Given the description of an element on the screen output the (x, y) to click on. 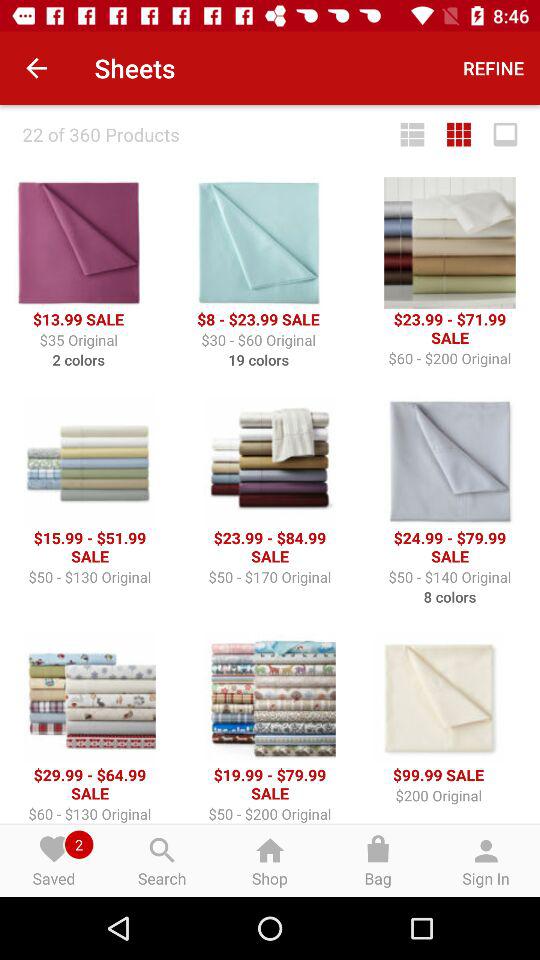
press the icon next to 22 of 360 icon (412, 134)
